Given the description of an element on the screen output the (x, y) to click on. 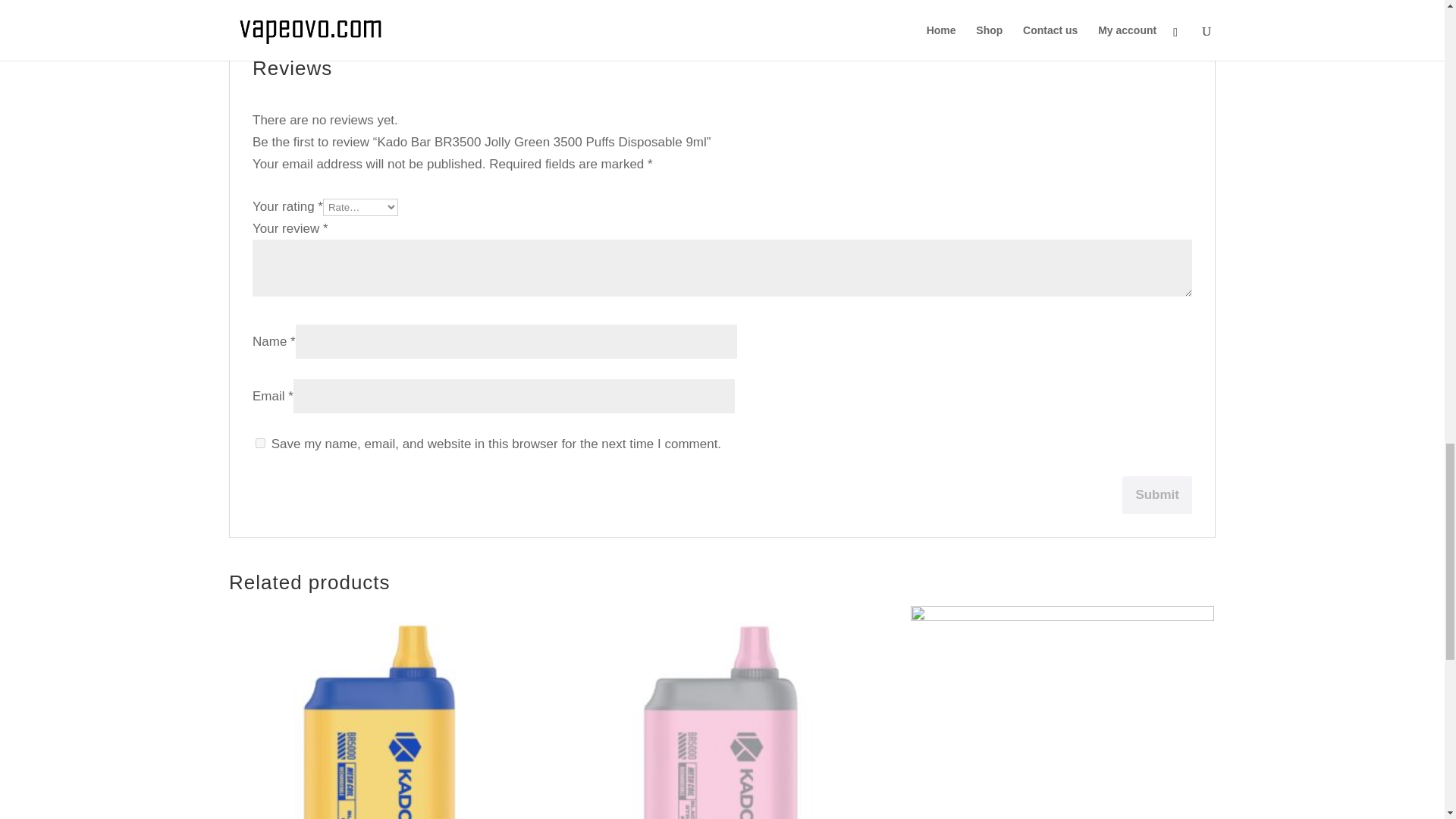
yes (260, 442)
Submit (1157, 494)
Submit (1157, 494)
